Given the description of an element on the screen output the (x, y) to click on. 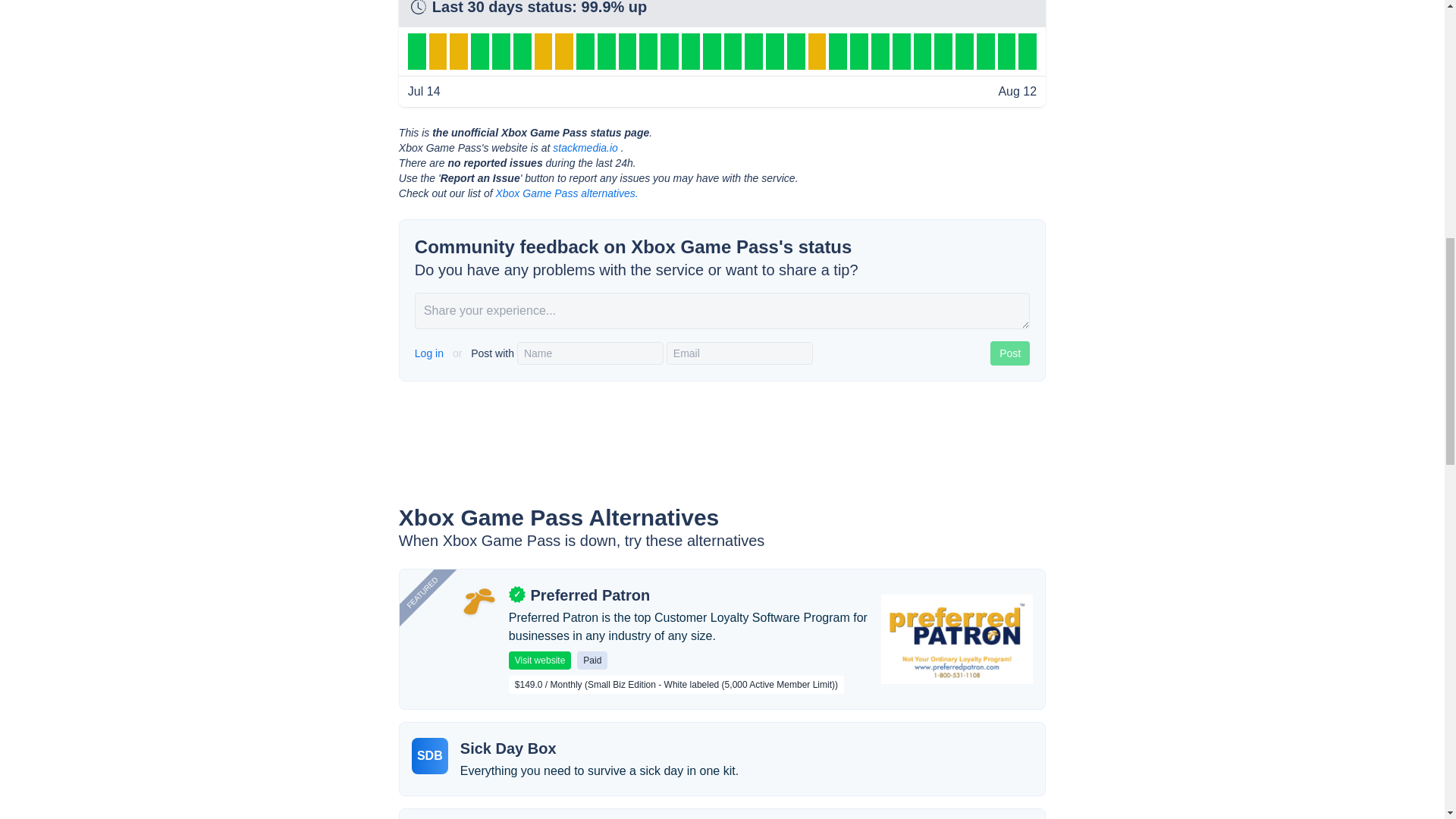
Sick Day Box (508, 748)
Post (1009, 353)
SDB (430, 755)
Xbox Game Pass alternatives. (566, 193)
Post (1009, 353)
FEATURED (443, 530)
Visit website (539, 660)
Log in (430, 353)
stackmedia.io (585, 147)
